Given the description of an element on the screen output the (x, y) to click on. 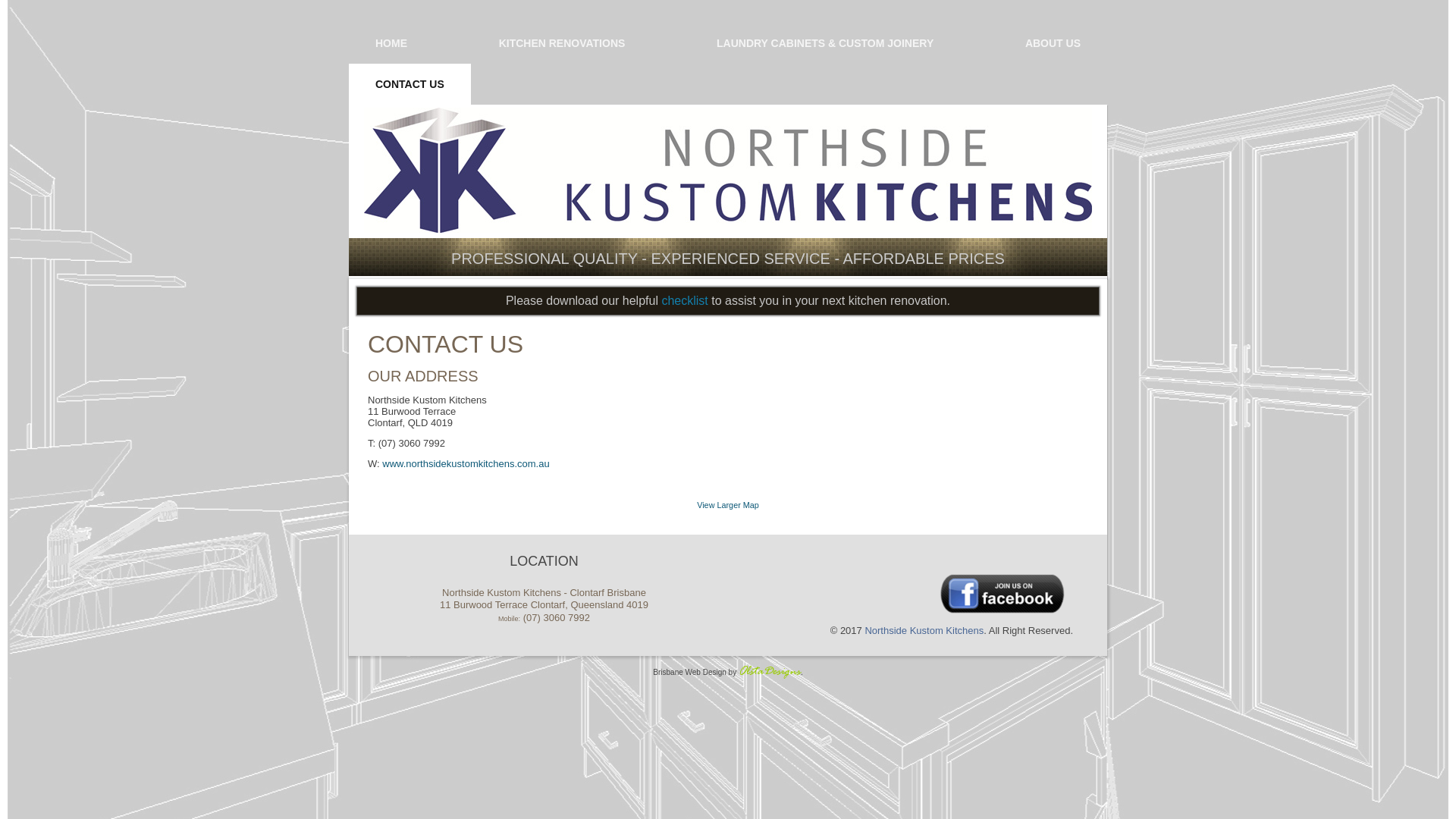
CONTACT US Element type: text (409, 83)
KITCHEN RENOVATIONS Element type: text (562, 42)
CONTACT US Element type: text (445, 343)
OlstaDesigns Element type: text (769, 671)
www.northsidekustomkitchens.com.au Element type: text (465, 463)
checklist Element type: text (684, 300)
Northside Kustom Kitchens Element type: text (923, 630)
View Larger Map Element type: text (727, 504)
HOME Element type: text (390, 42)
ABOUT US Element type: text (1052, 42)
LAUNDRY CABINETS & CUSTOM JOINERY Element type: text (825, 42)
